Given the description of an element on the screen output the (x, y) to click on. 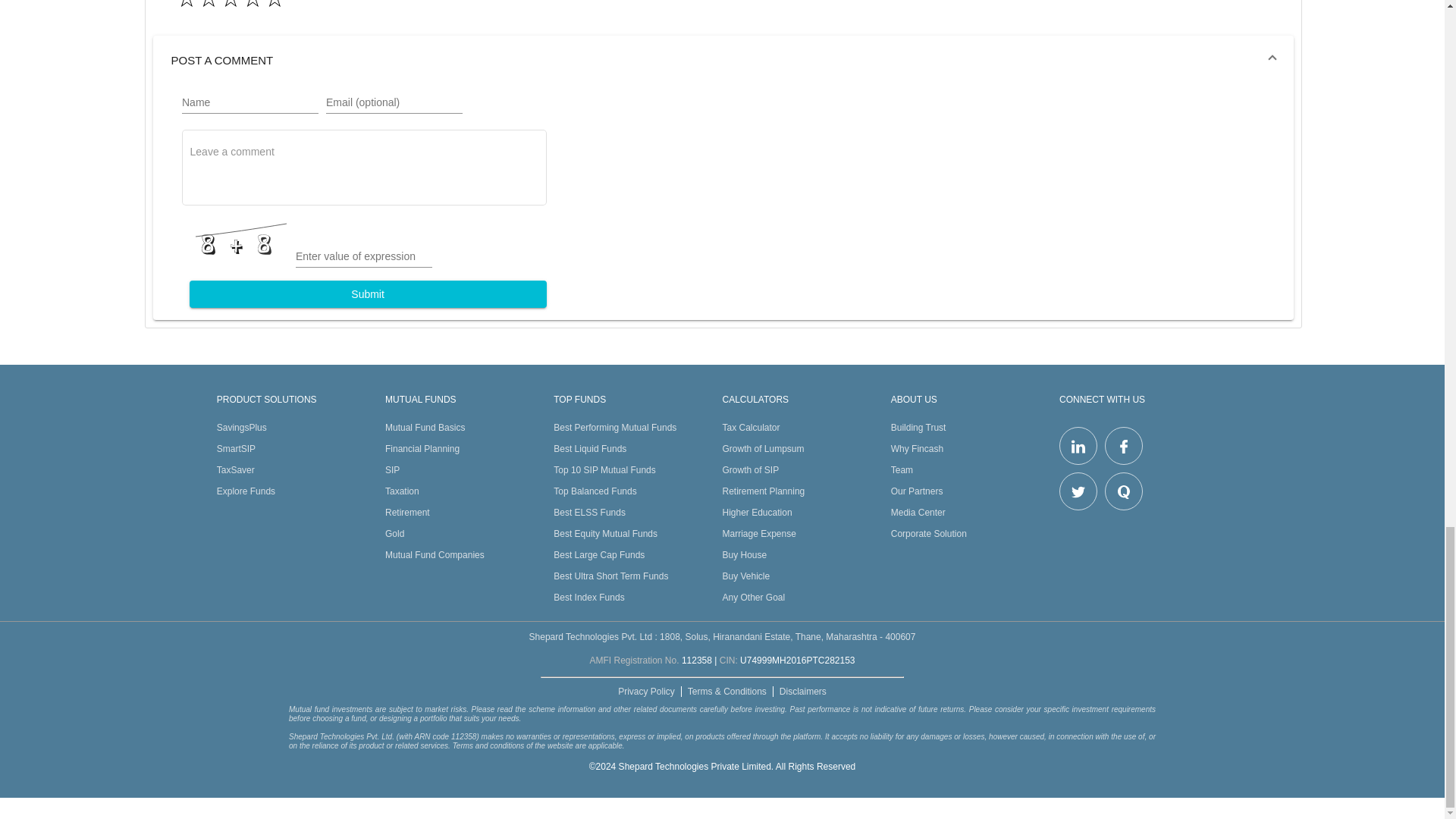
SmartSIP (236, 448)
Explore Funds (245, 491)
Financial Planning (422, 448)
TaxSaver (235, 470)
SavingsPlus (241, 427)
Submit (368, 293)
Mutual Fund Basics (424, 427)
